Given the description of an element on the screen output the (x, y) to click on. 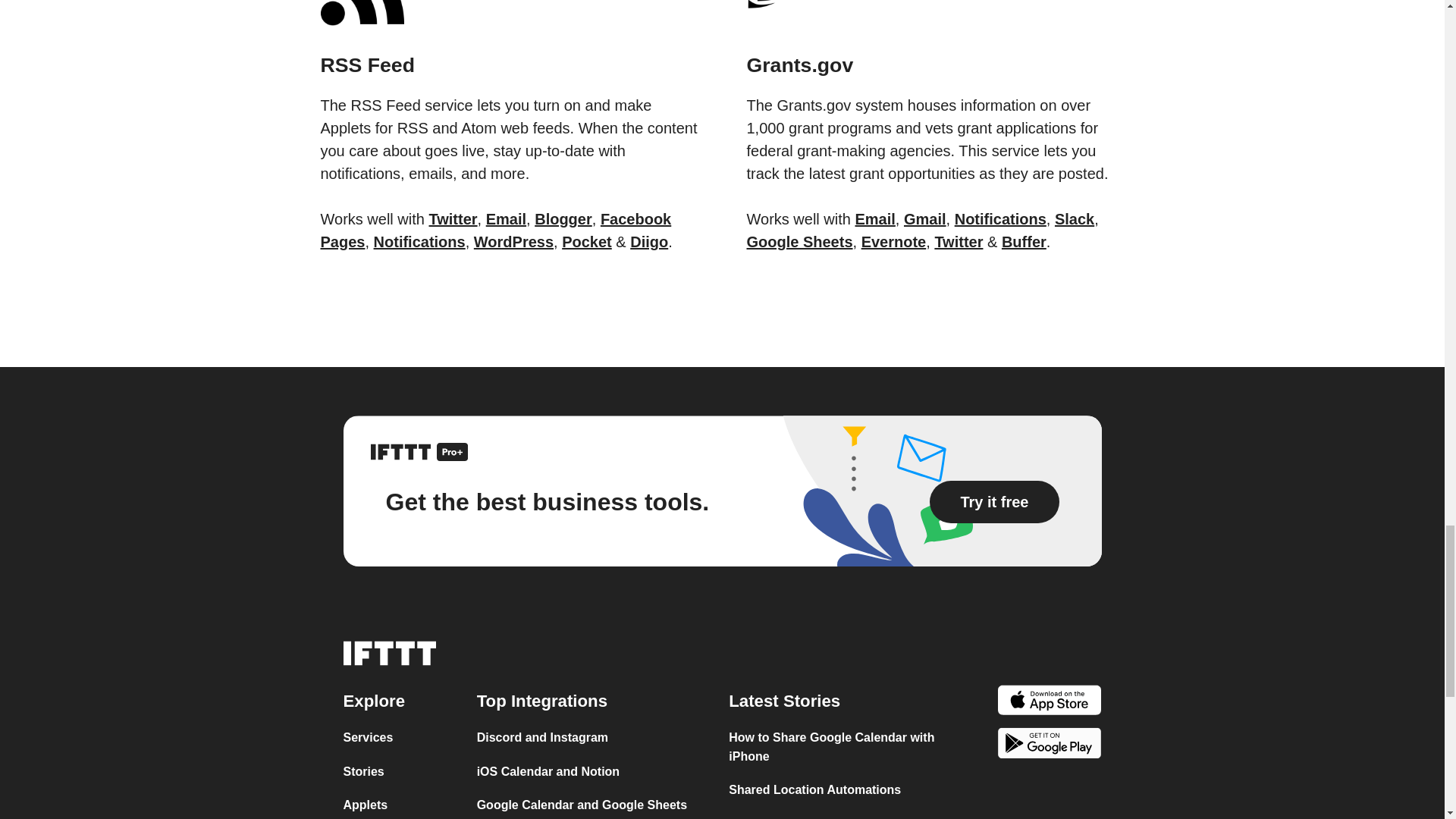
Email (505, 218)
Blogger (563, 218)
Twitter (453, 218)
RSS Feed (508, 45)
